Given the description of an element on the screen output the (x, y) to click on. 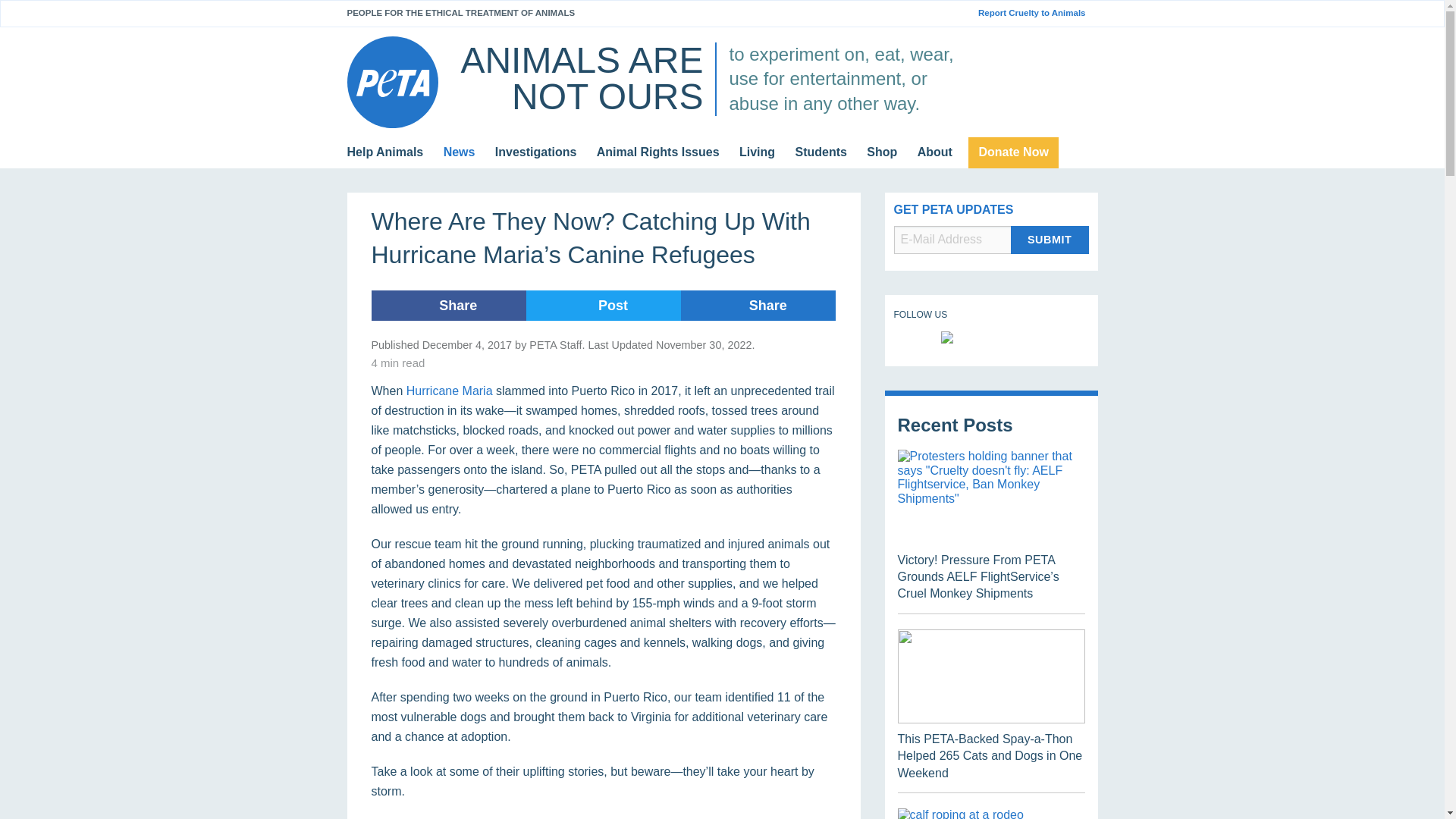
PEOPLE FOR THE ETHICAL TREATMENT OF ANIMALS (461, 13)
ANIMALS ARE NOT OURS (581, 78)
Submit (1049, 239)
Report Cruelty to Animals (1037, 13)
